Given the description of an element on the screen output the (x, y) to click on. 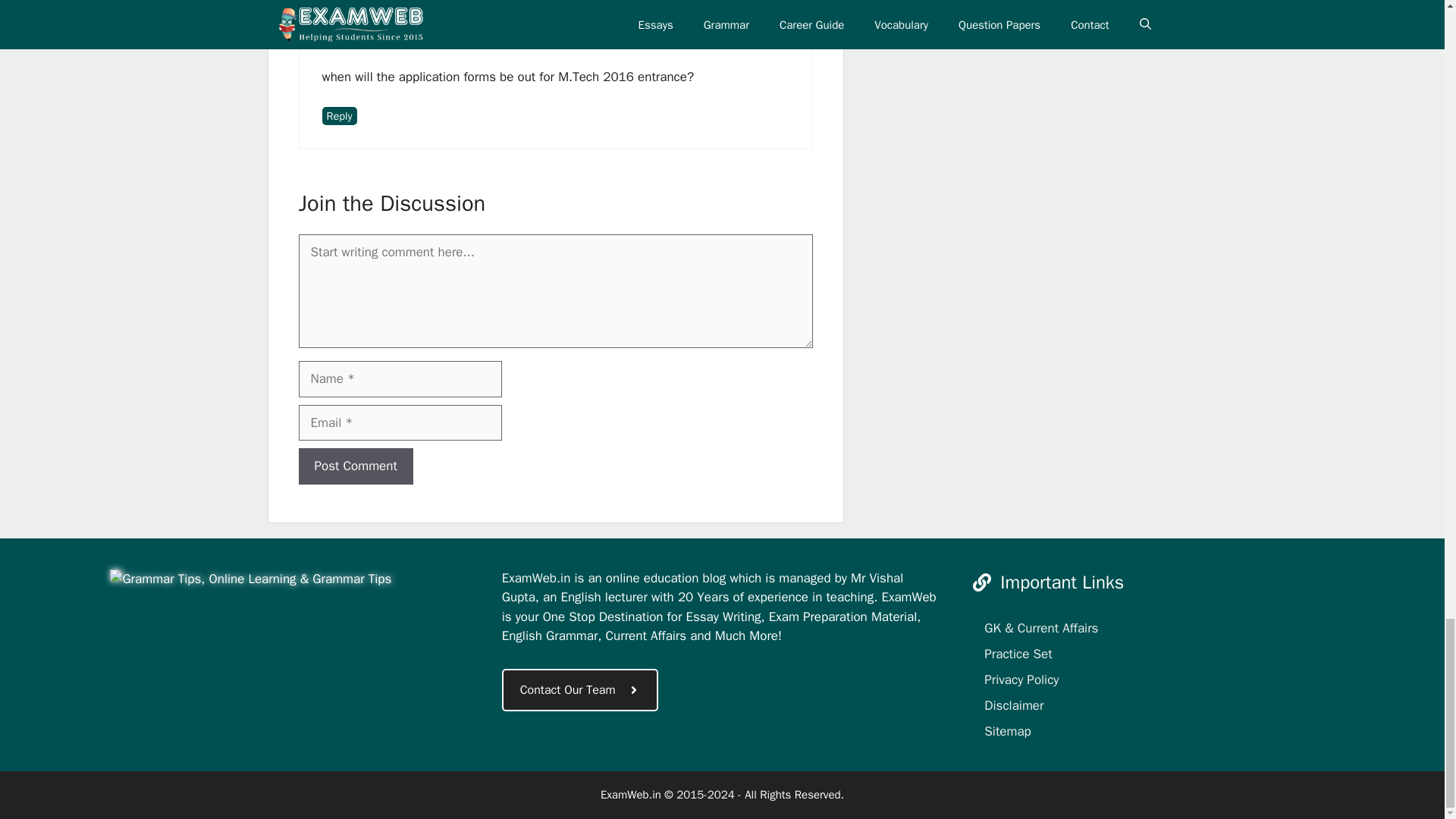
Post Comment (355, 465)
Reply (338, 116)
examweb.in (250, 578)
Post Comment (355, 465)
